Given the description of an element on the screen output the (x, y) to click on. 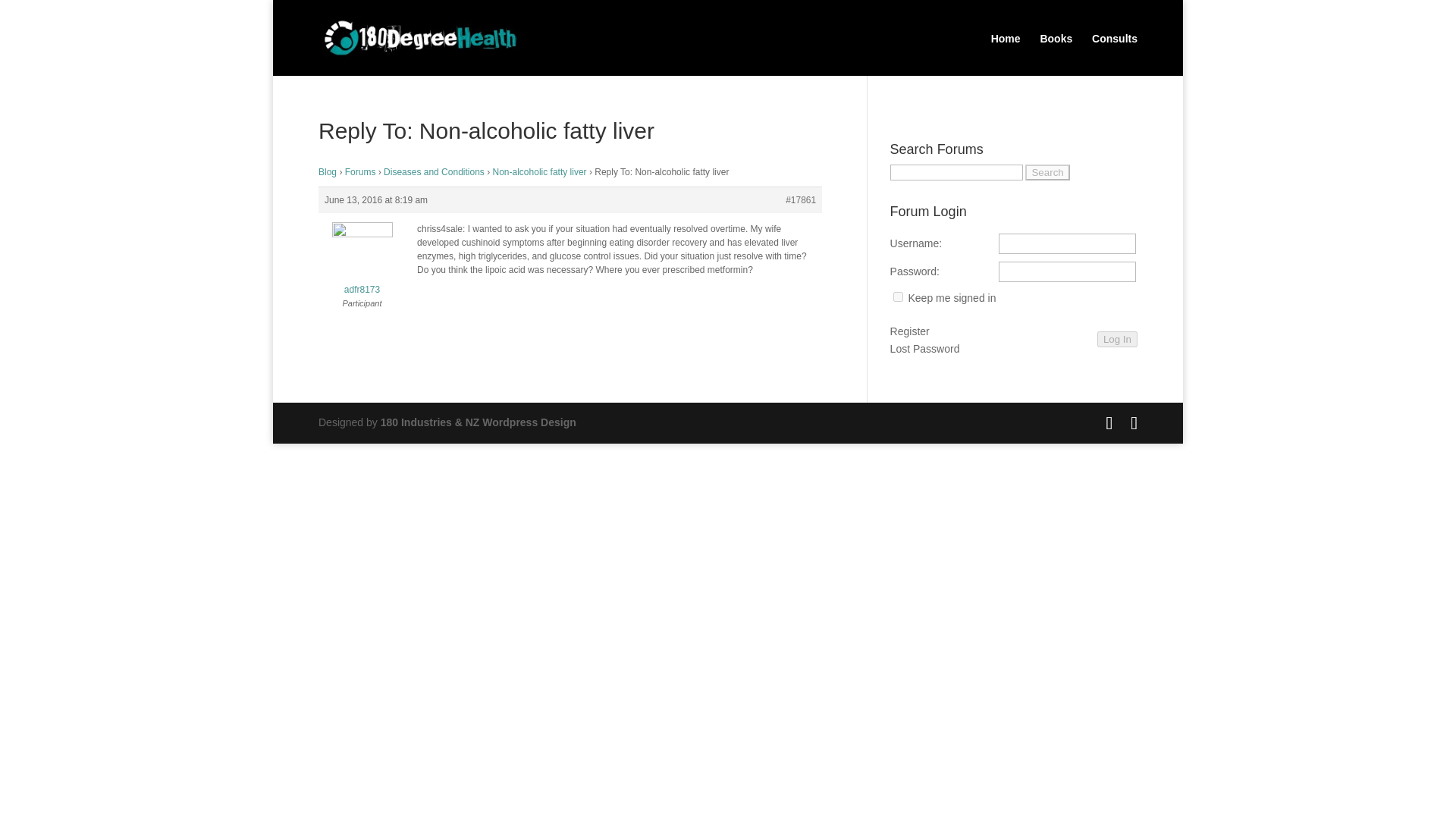
adfr8173 (362, 262)
Diseases and Conditions (434, 172)
Books (1055, 49)
Non-alcoholic fatty liver (539, 172)
View adfr8173's profile (362, 262)
Consults (1114, 49)
Lost Password (924, 349)
Home (1005, 49)
Search (1046, 172)
Forums (360, 172)
